Given the description of an element on the screen output the (x, y) to click on. 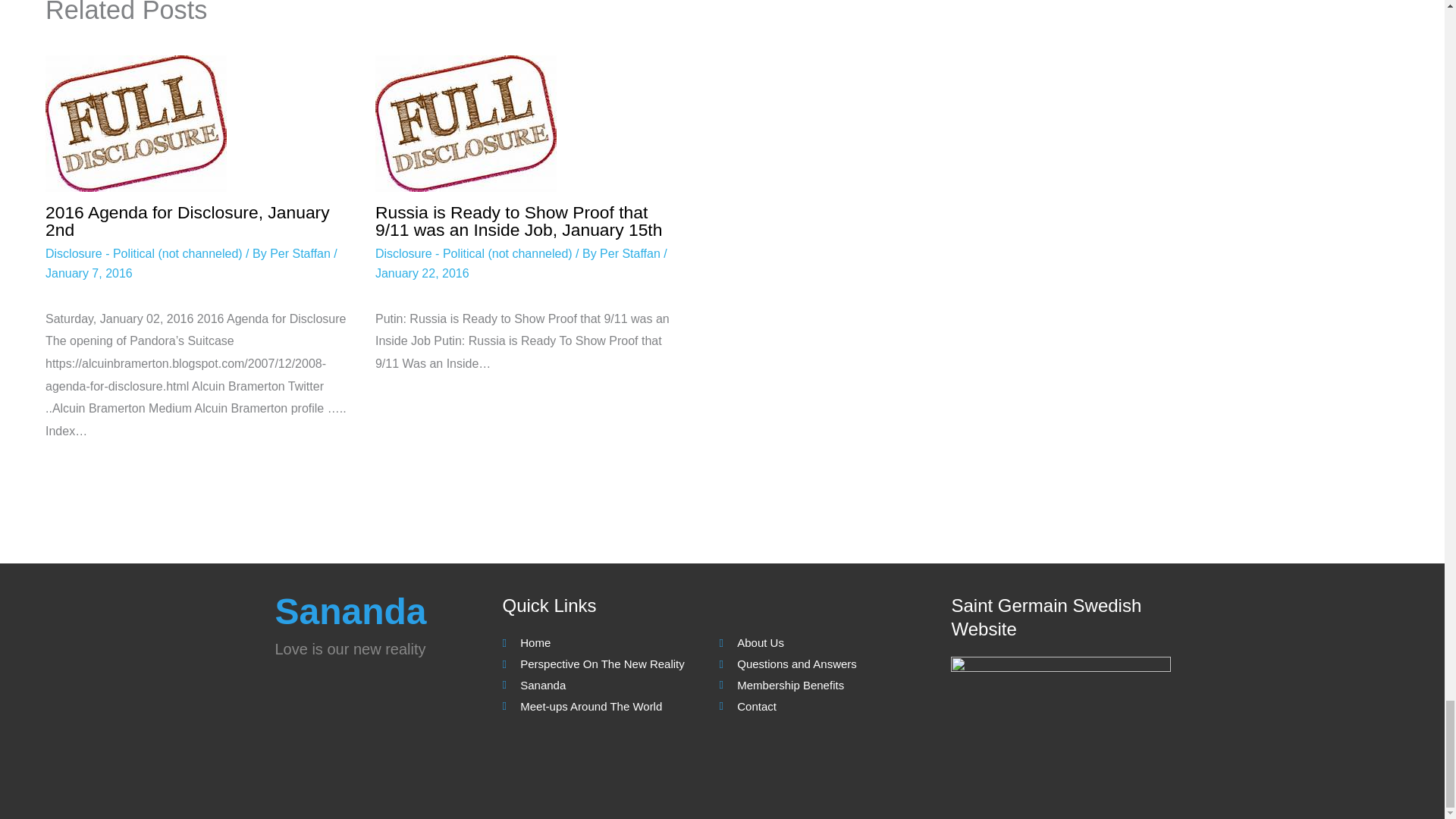
Per Staffan (301, 253)
2016 Agenda for Disclosure, January 2nd (187, 220)
View all posts by Per Staffan (301, 253)
View all posts by Per Staffan (631, 253)
Per Staffan (631, 253)
